Given the description of an element on the screen output the (x, y) to click on. 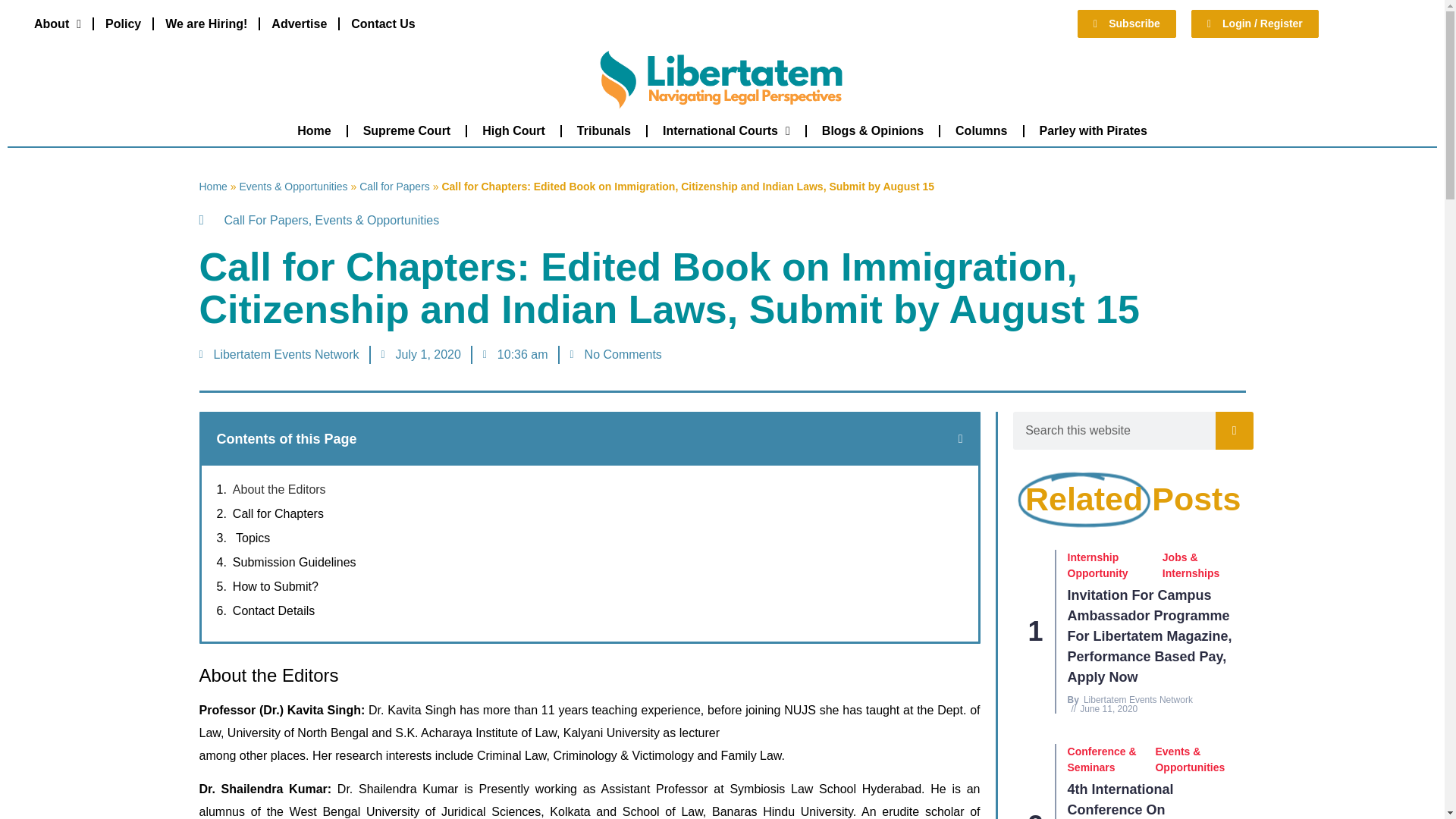
Policy (123, 22)
About (58, 22)
Columns (981, 130)
Advertise (298, 22)
International Courts (726, 130)
High Court (513, 130)
Call for Papers (394, 186)
Contact Us (382, 22)
Subscribe (1126, 23)
